Given the description of an element on the screen output the (x, y) to click on. 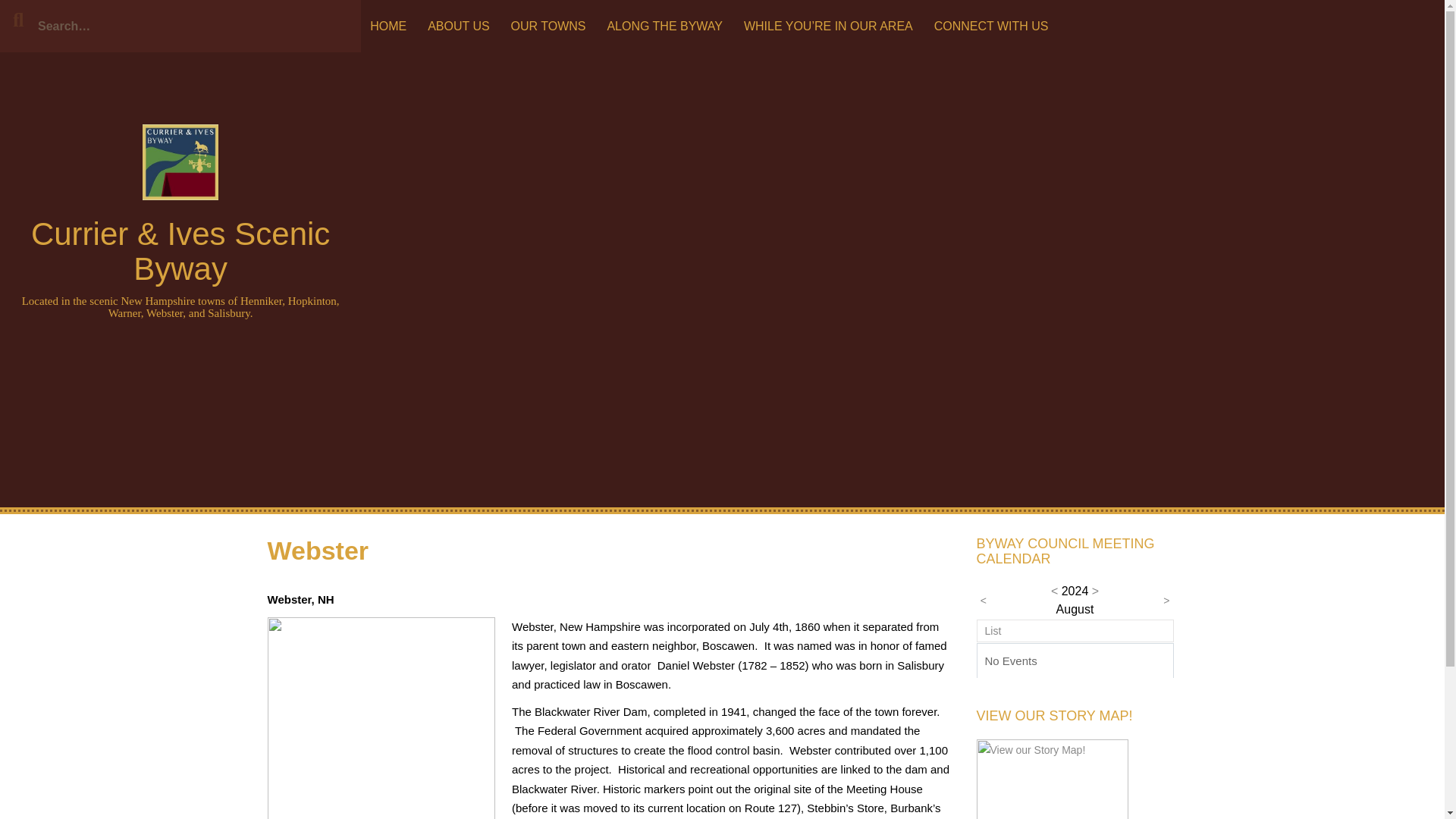
HOME (387, 26)
ABOUT US (459, 26)
View our Story Map! (1052, 813)
CONNECT WITH US (991, 26)
OUR TOWNS (548, 26)
ALONG THE BYWAY (664, 26)
Search for: (180, 26)
List (992, 630)
